Given the description of an element on the screen output the (x, y) to click on. 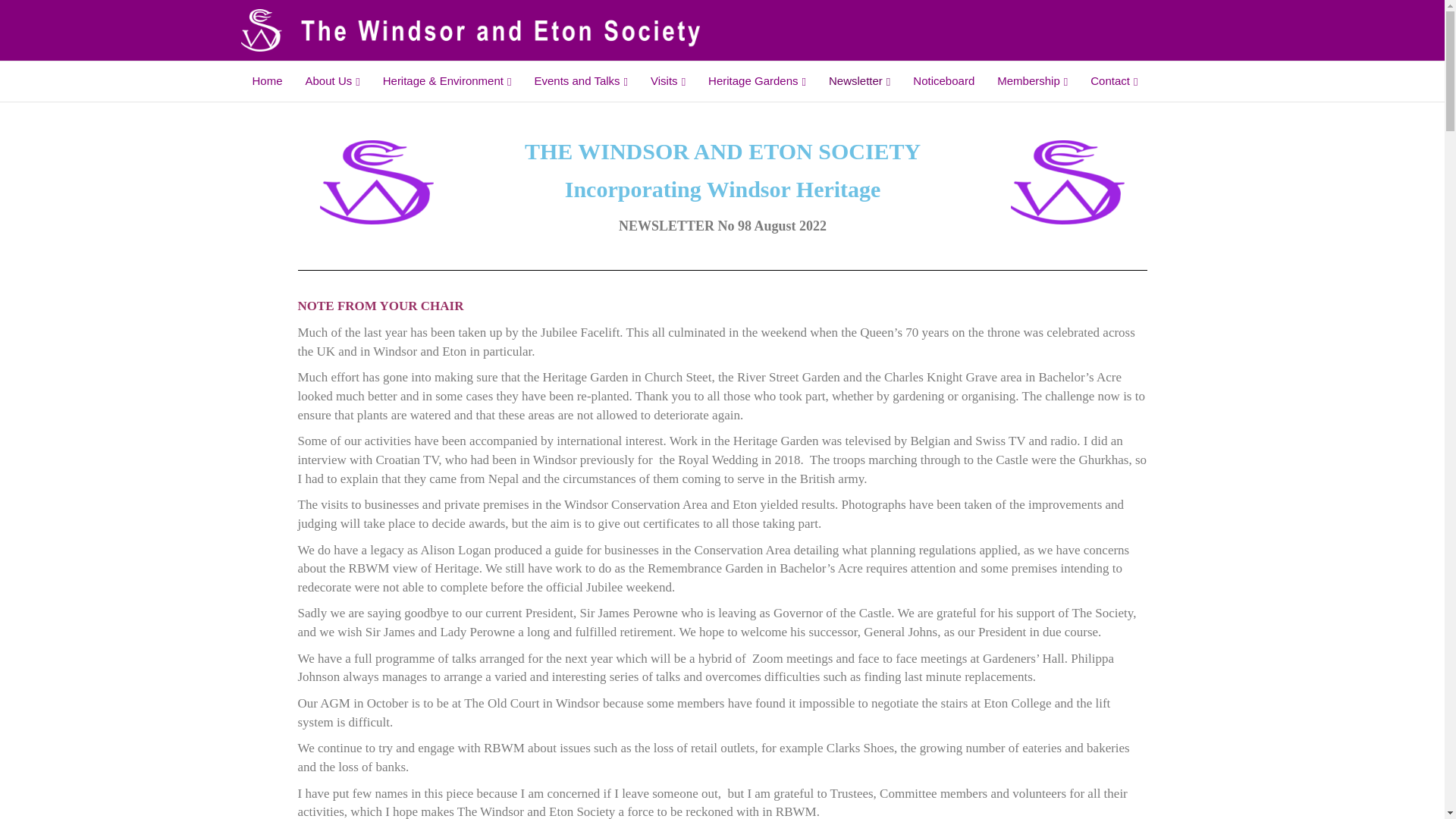
Newsletter (858, 81)
Events and Talks (580, 81)
Home (267, 80)
Visits (668, 81)
About Us (332, 81)
Heritage Gardens (756, 81)
